Given the description of an element on the screen output the (x, y) to click on. 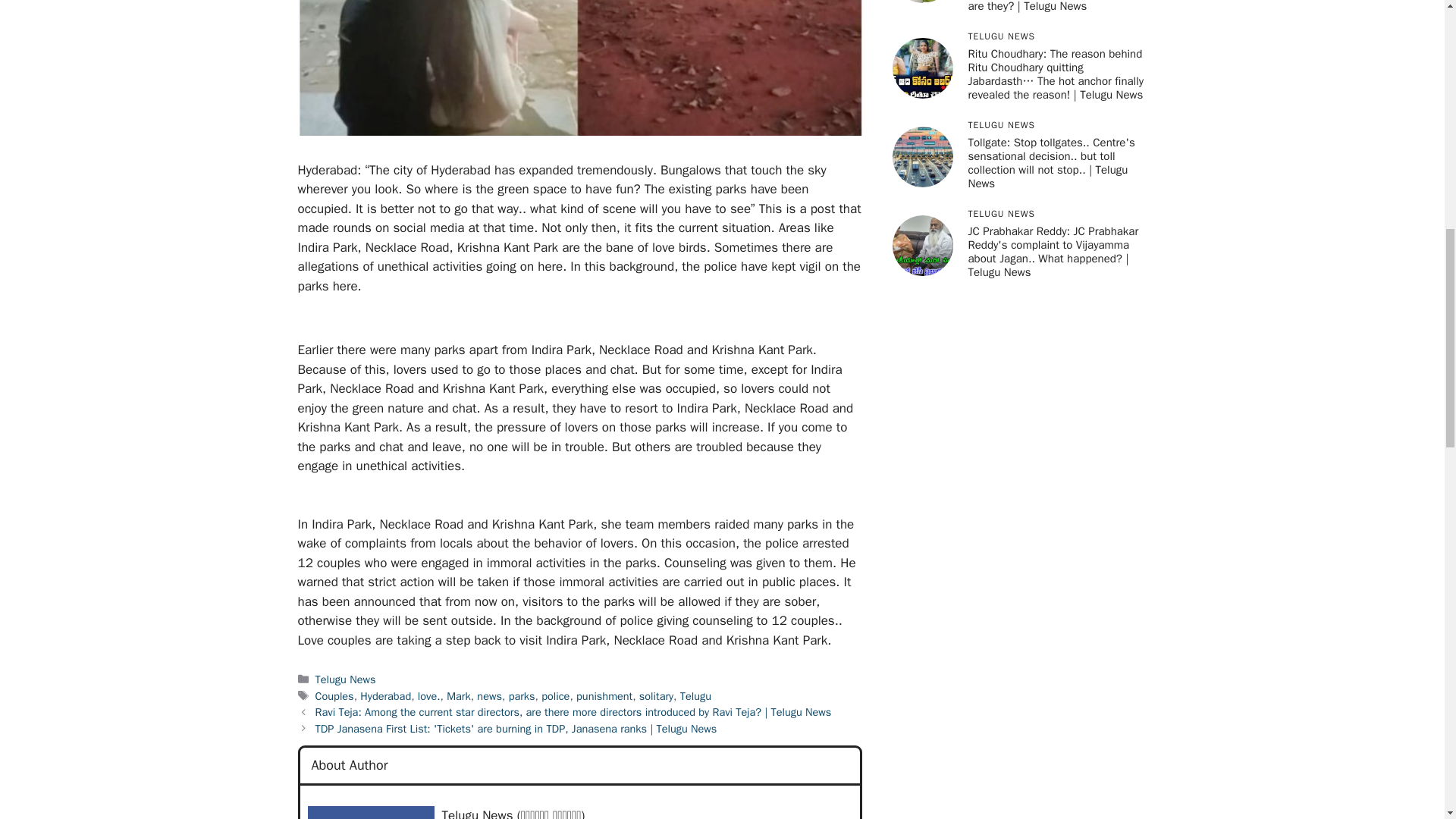
Telugu News (345, 679)
police (555, 695)
Couples (334, 695)
news (489, 695)
love. (429, 695)
solitary (655, 695)
Scroll back to top (1406, 720)
unnamed (370, 812)
parks (521, 695)
Hyderabad (384, 695)
Telugu (695, 695)
punishment (603, 695)
Mark (458, 695)
